Given the description of an element on the screen output the (x, y) to click on. 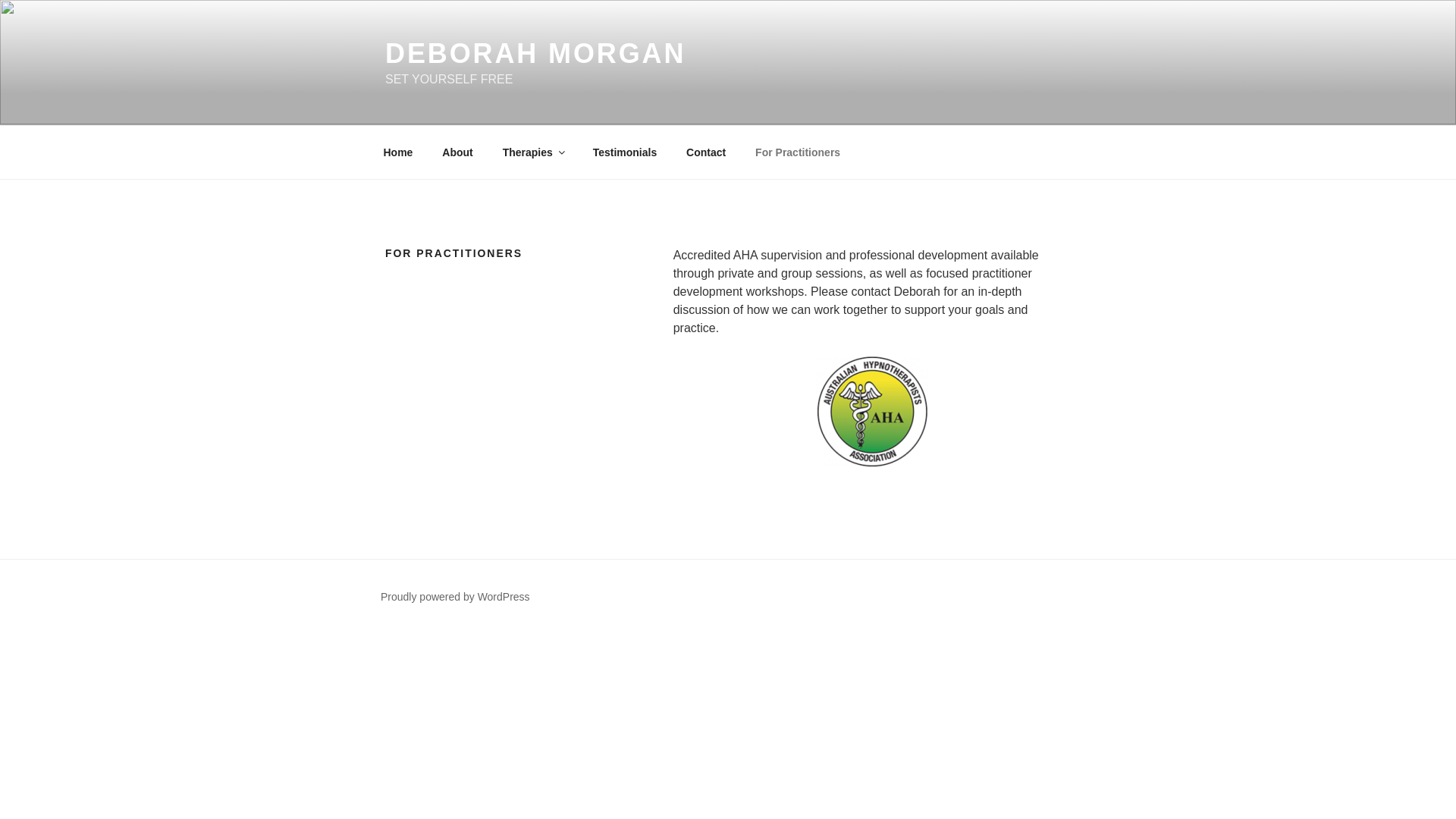
DEBORAH MORGAN Element type: text (535, 53)
About Element type: text (457, 151)
Proudly powered by WordPress Element type: text (455, 596)
Therapies Element type: text (532, 151)
Contact Element type: text (706, 151)
Testimonials Element type: text (624, 151)
Home Element type: text (398, 151)
For Practitioners Element type: text (797, 151)
